Given the description of an element on the screen output the (x, y) to click on. 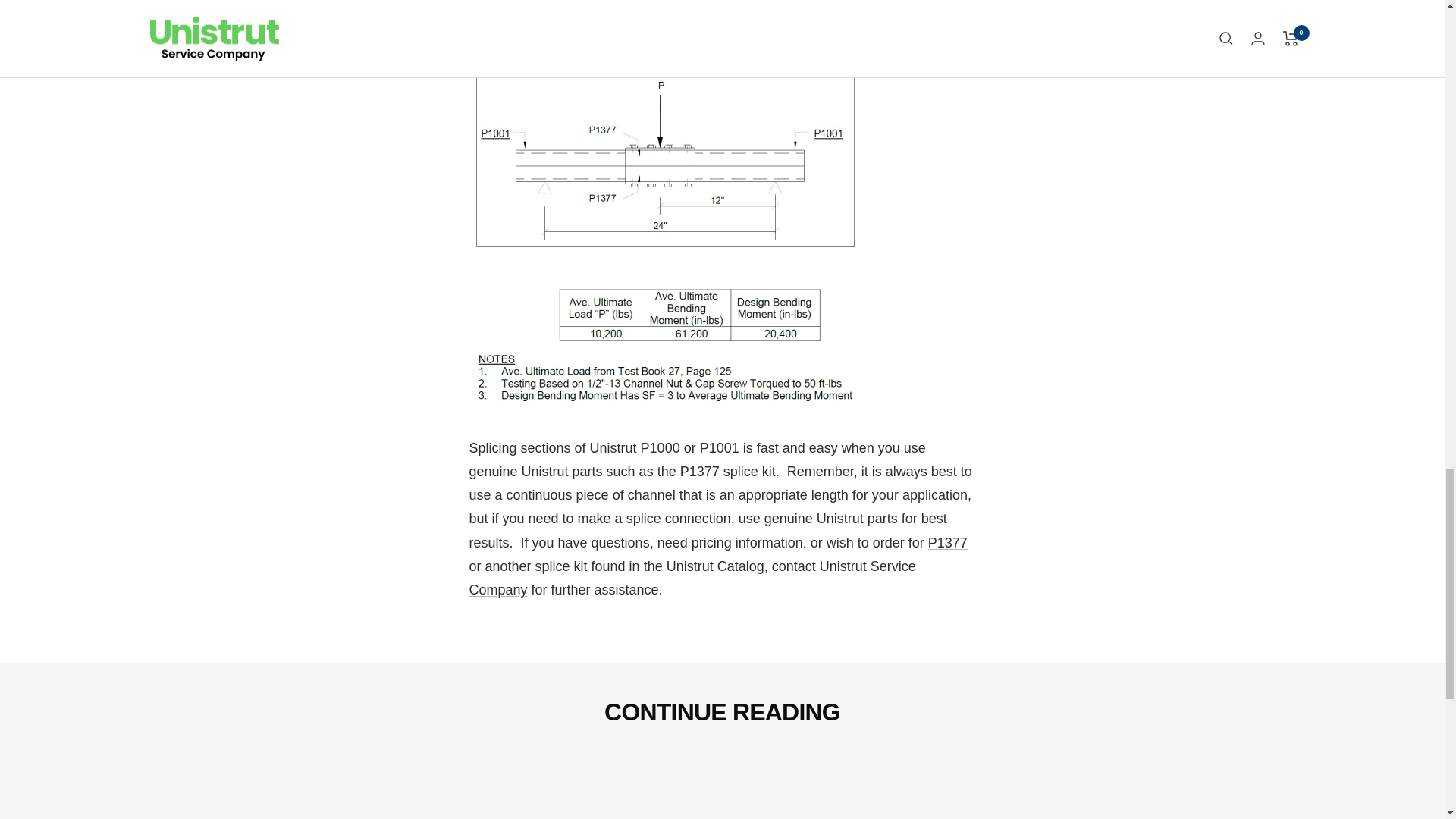
Unistrut Catalog (715, 566)
P1377 (948, 542)
contact Unistrut Service Company (691, 577)
